Given the description of an element on the screen output the (x, y) to click on. 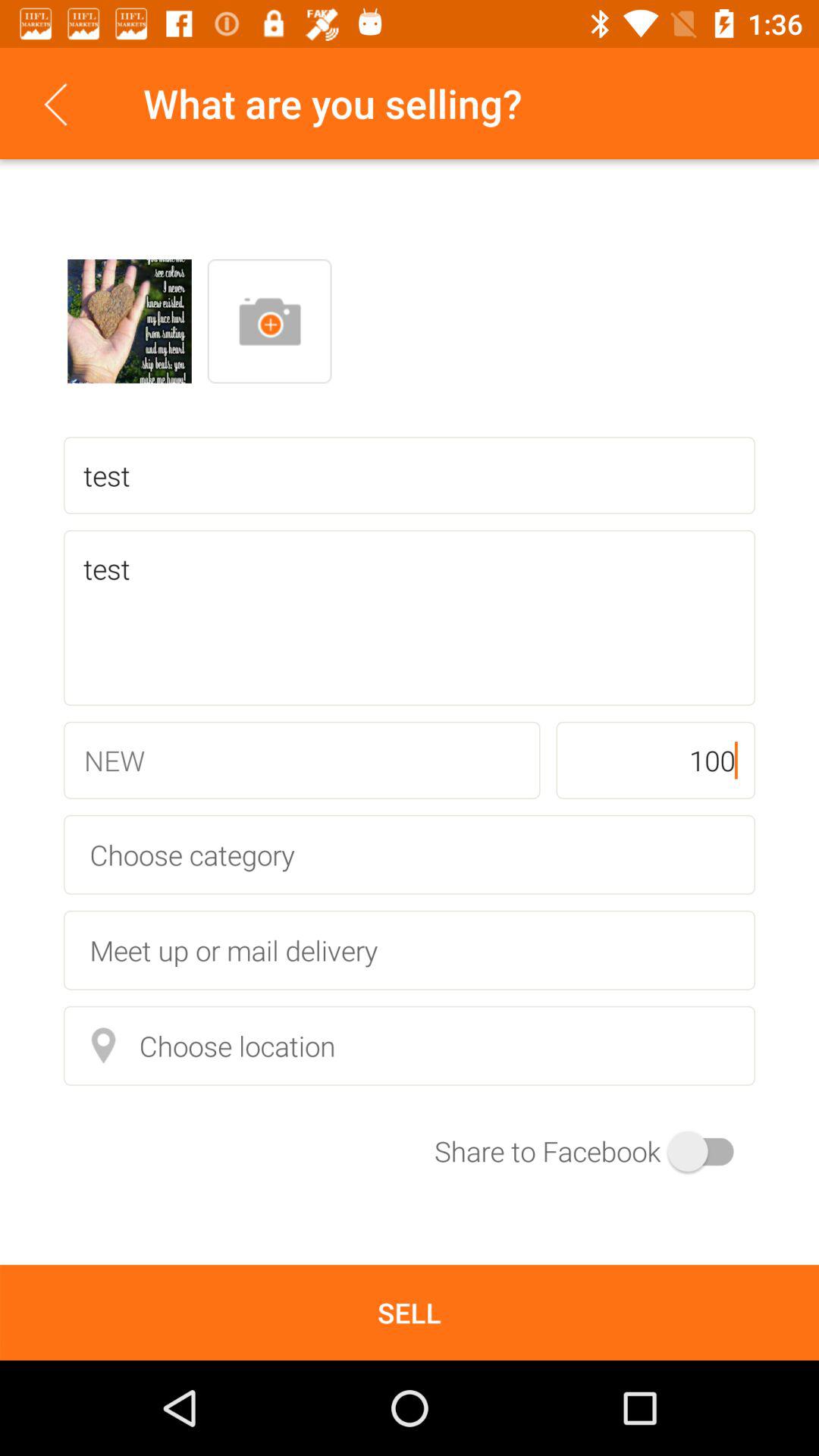
launch the meet up or item (409, 950)
